Given the description of an element on the screen output the (x, y) to click on. 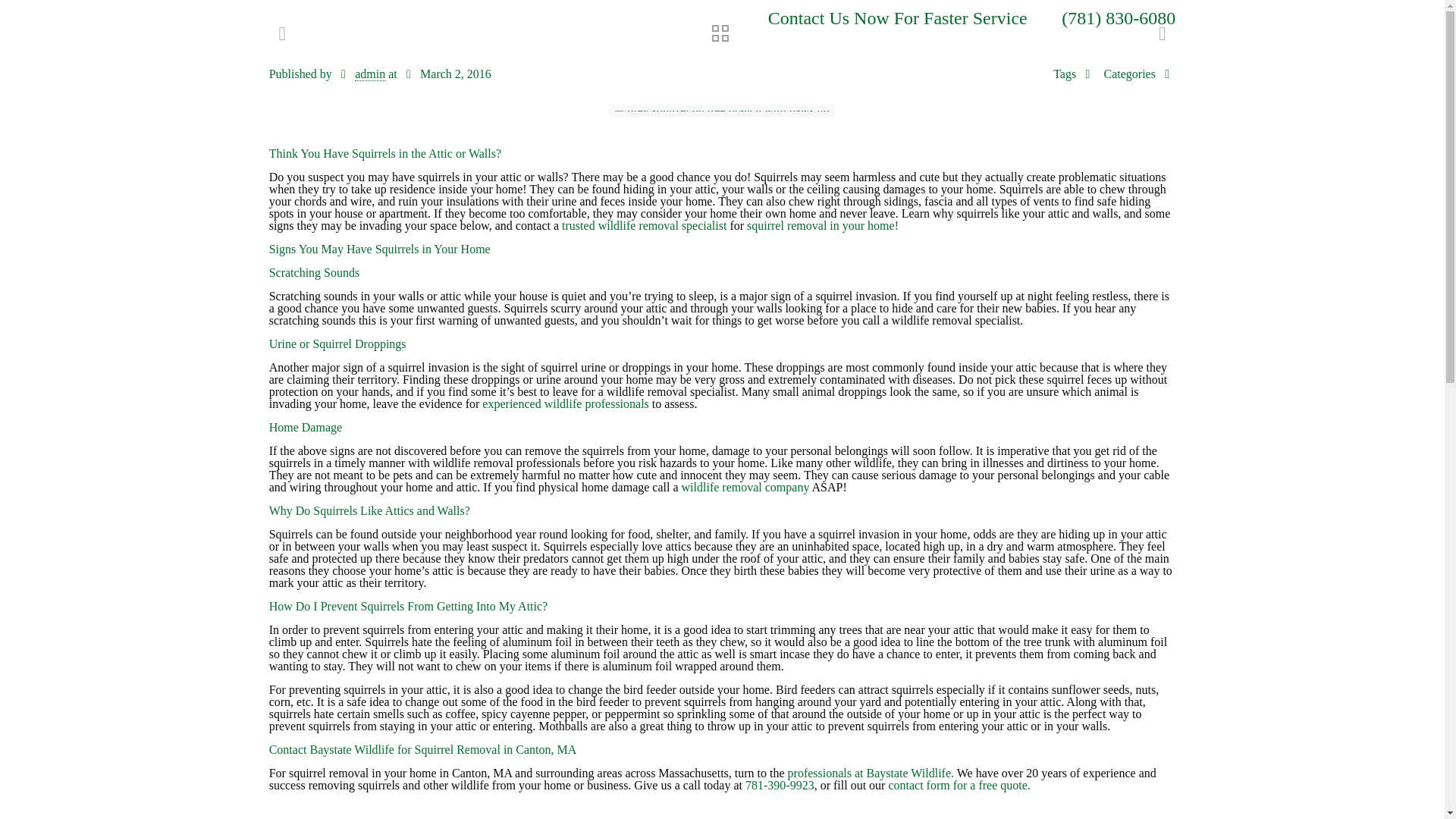
trusted wildlife removal specialist (642, 225)
Pinterest (703, 19)
admin (370, 74)
wildlife removal company (745, 486)
experienced wildlife professionals (564, 403)
Facebook (661, 19)
Twitter (682, 19)
RSS (724, 19)
Contact Us Now For Faster Service (897, 17)
squirrel removal in your home! (822, 225)
